Given the description of an element on the screen output the (x, y) to click on. 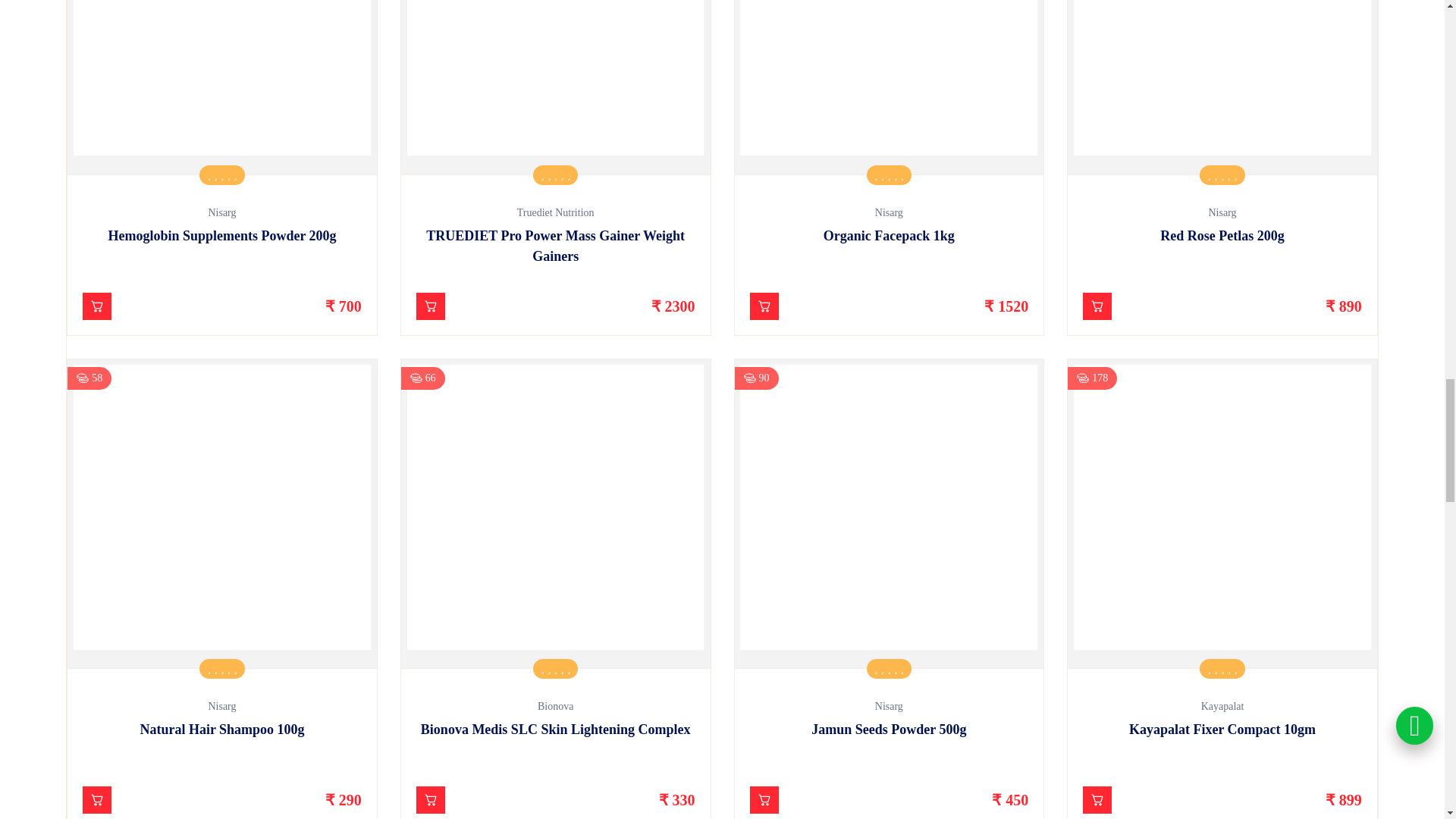
Hemoglobin Supplements Powder 200g (221, 87)
Red Rose  Petlas 200g (1222, 87)
TRUEDIET Pro Power Mass Gainer Weight Gainers (555, 87)
Organic Facepack 1kg (888, 87)
